Given the description of an element on the screen output the (x, y) to click on. 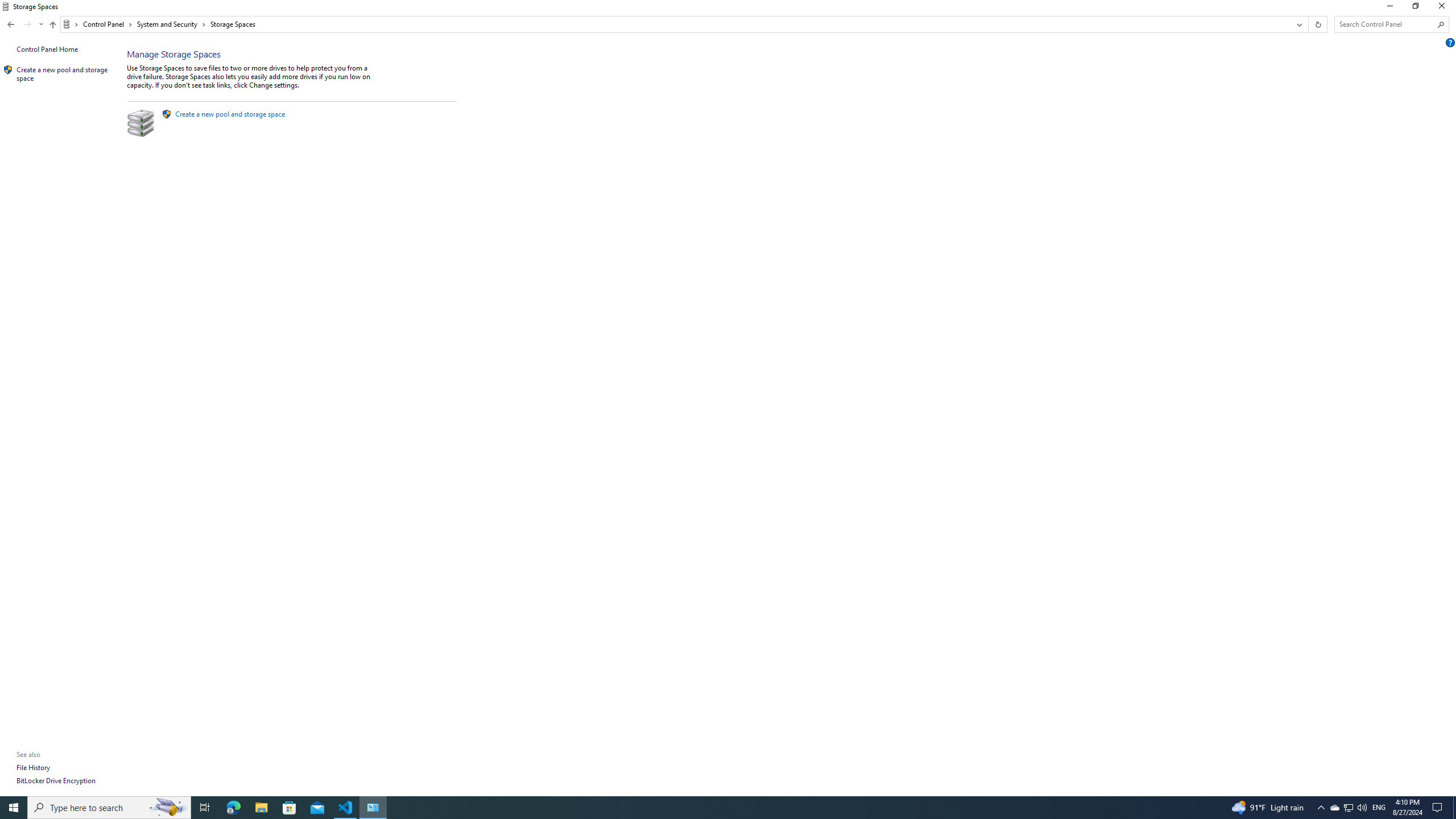
AutomationID: Help (1450, 42)
System (6, 6)
Up band toolbar (52, 26)
Control Panel Home (47, 49)
Forward (Alt + Right Arrow) (27, 23)
Control Panel (107, 23)
Refresh "Storage Spaces" (F5) (1316, 23)
